Given the description of an element on the screen output the (x, y) to click on. 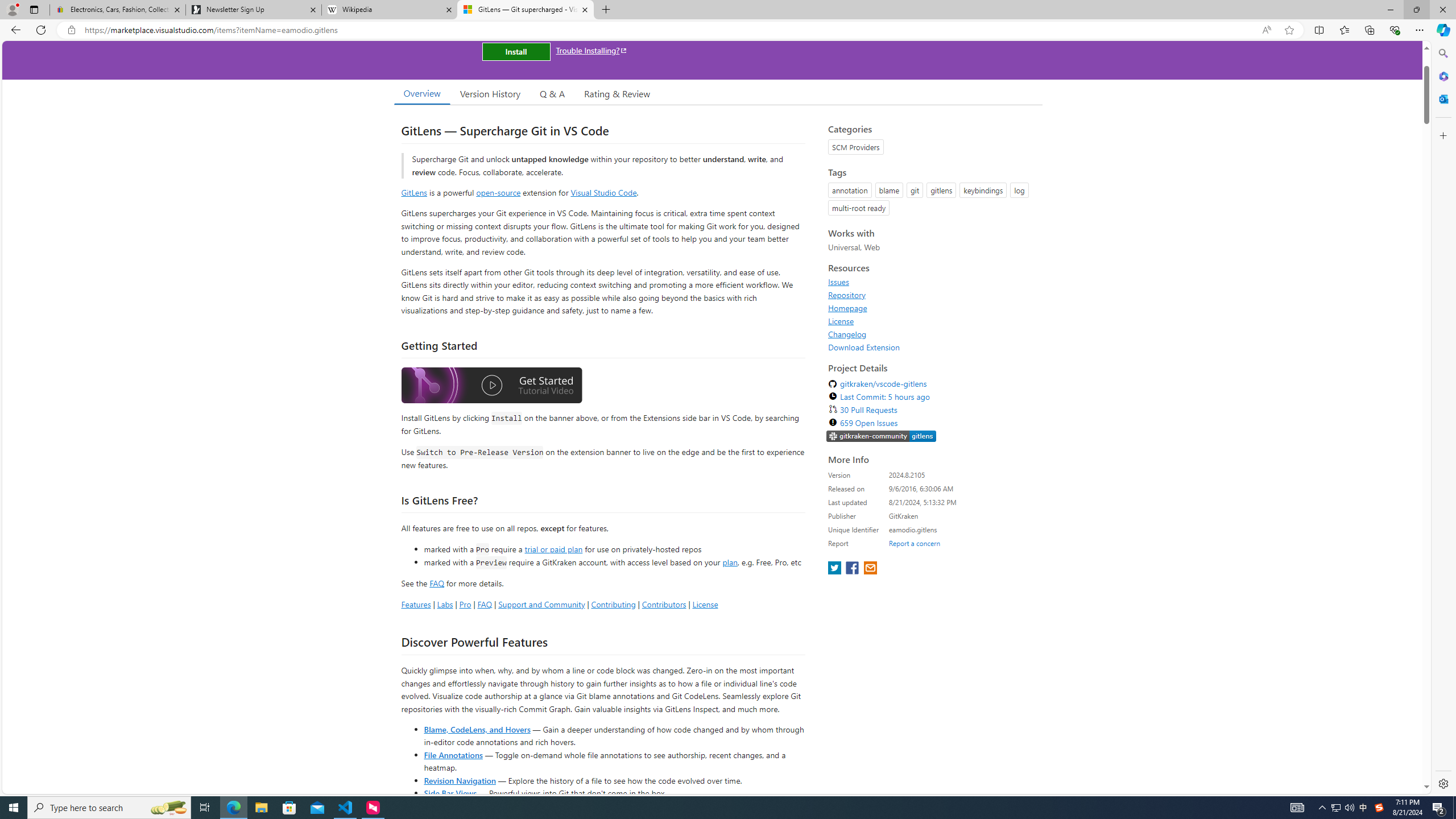
open-source (498, 192)
